Given the description of an element on the screen output the (x, y) to click on. 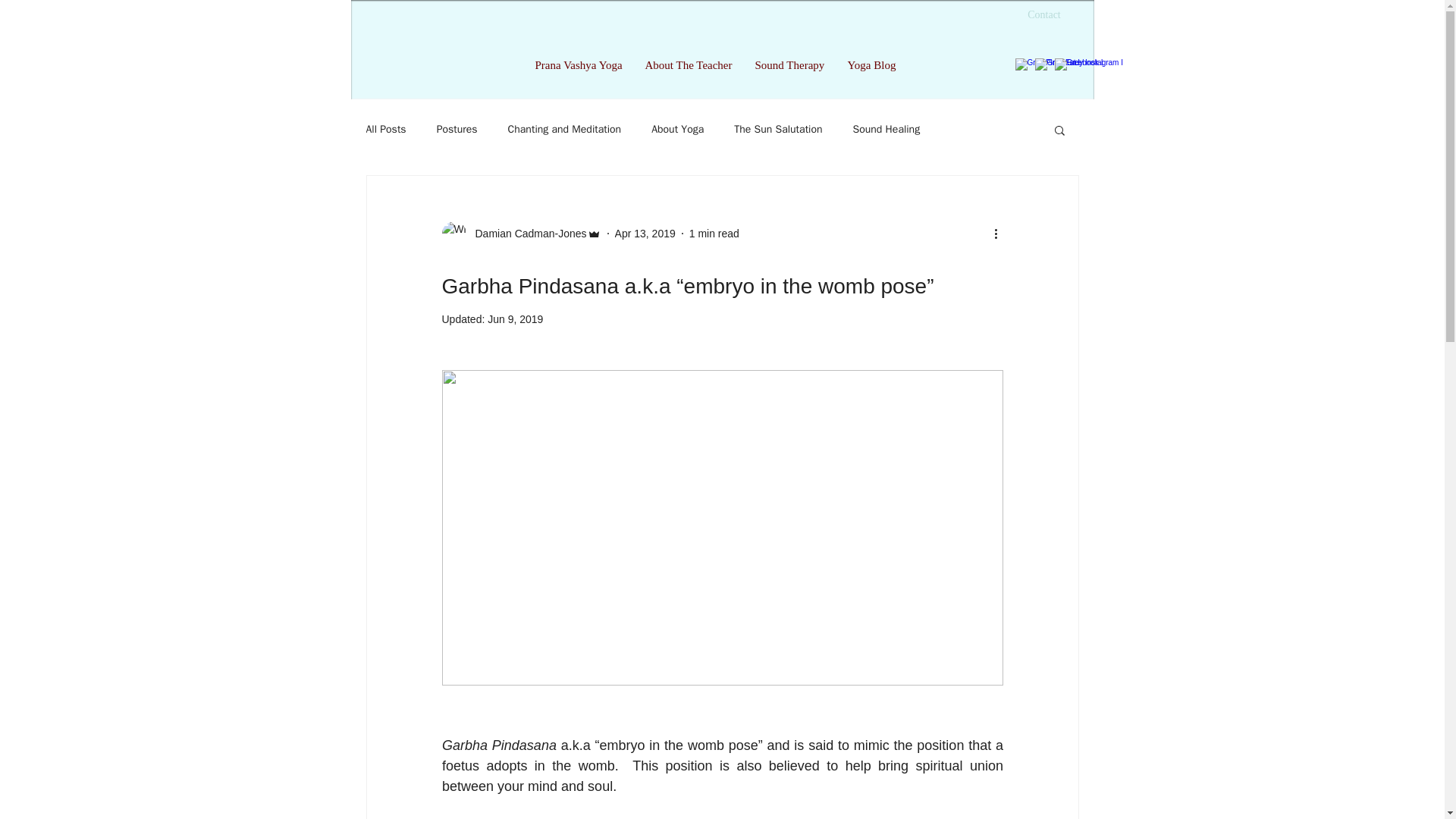
Contact (1043, 15)
Damian Cadman-Jones (525, 233)
1 min read (713, 233)
Apr 13, 2019 (644, 233)
About The Teacher (688, 65)
Postures (456, 129)
Sound Therapy (788, 65)
Jun 9, 2019 (515, 318)
About Yoga (676, 129)
Yoga Blog (871, 65)
